Given the description of an element on the screen output the (x, y) to click on. 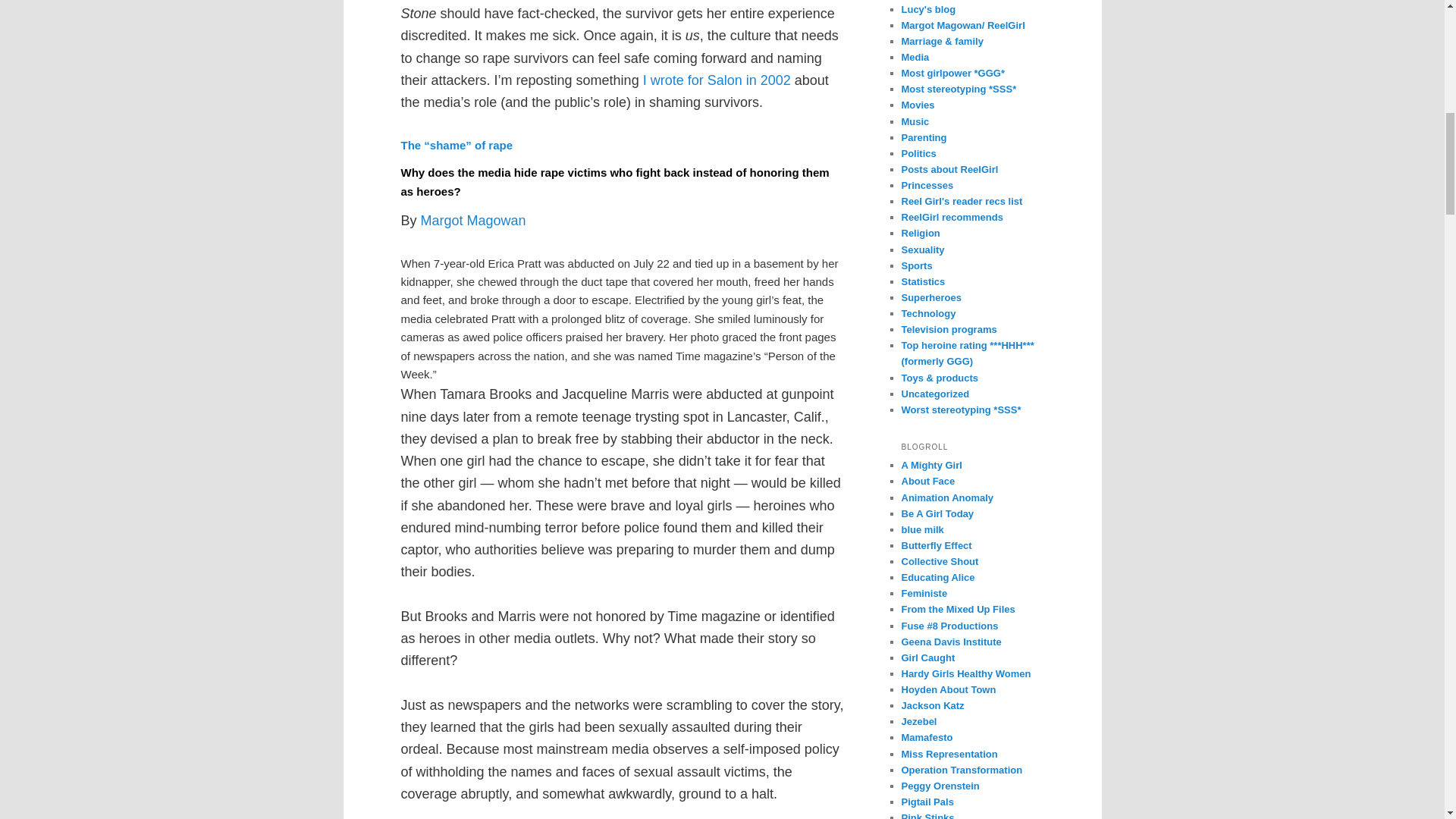
I wrote for Salon in 2002 (714, 79)
Margot Magowan (472, 220)
